Given the description of an element on the screen output the (x, y) to click on. 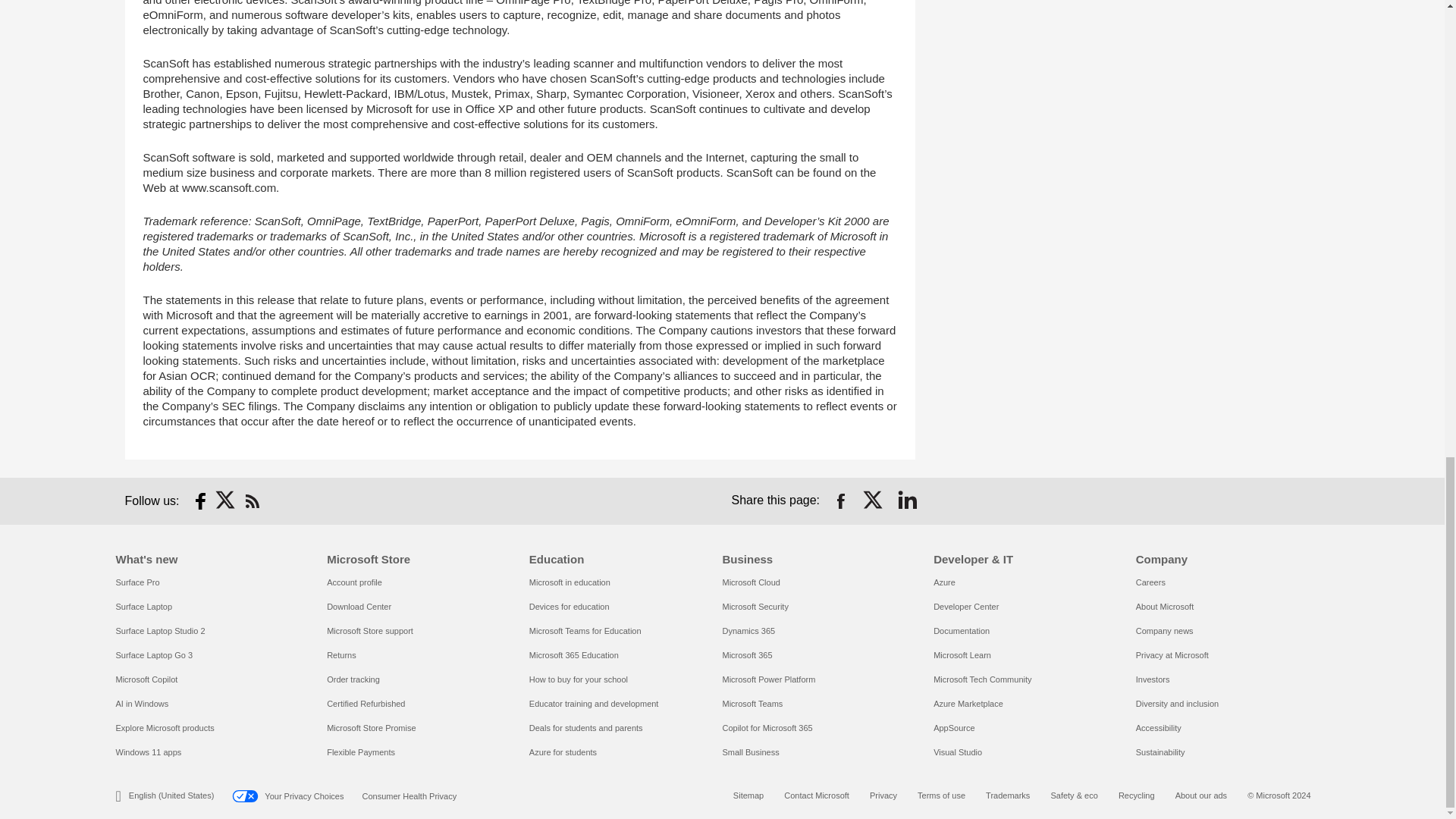
Follow on Facebook (200, 500)
RSS Subscription (252, 500)
Follow on Twitter (226, 500)
Share on LinkedIn (907, 500)
Share on Twitter (873, 500)
Share on Facebook (840, 500)
